Given the description of an element on the screen output the (x, y) to click on. 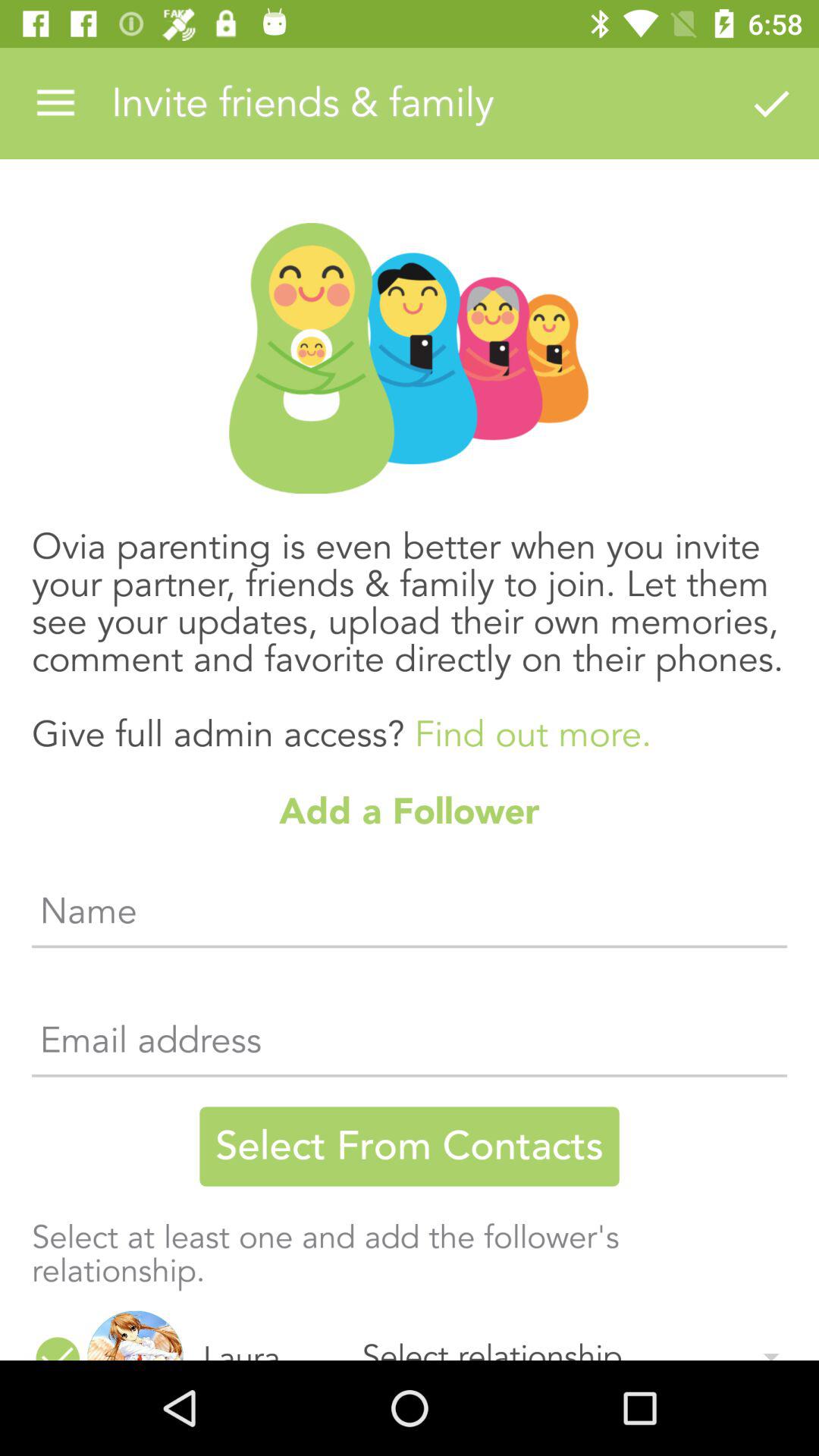
turn off icon to the left of the invite friends & family item (55, 103)
